Given the description of an element on the screen output the (x, y) to click on. 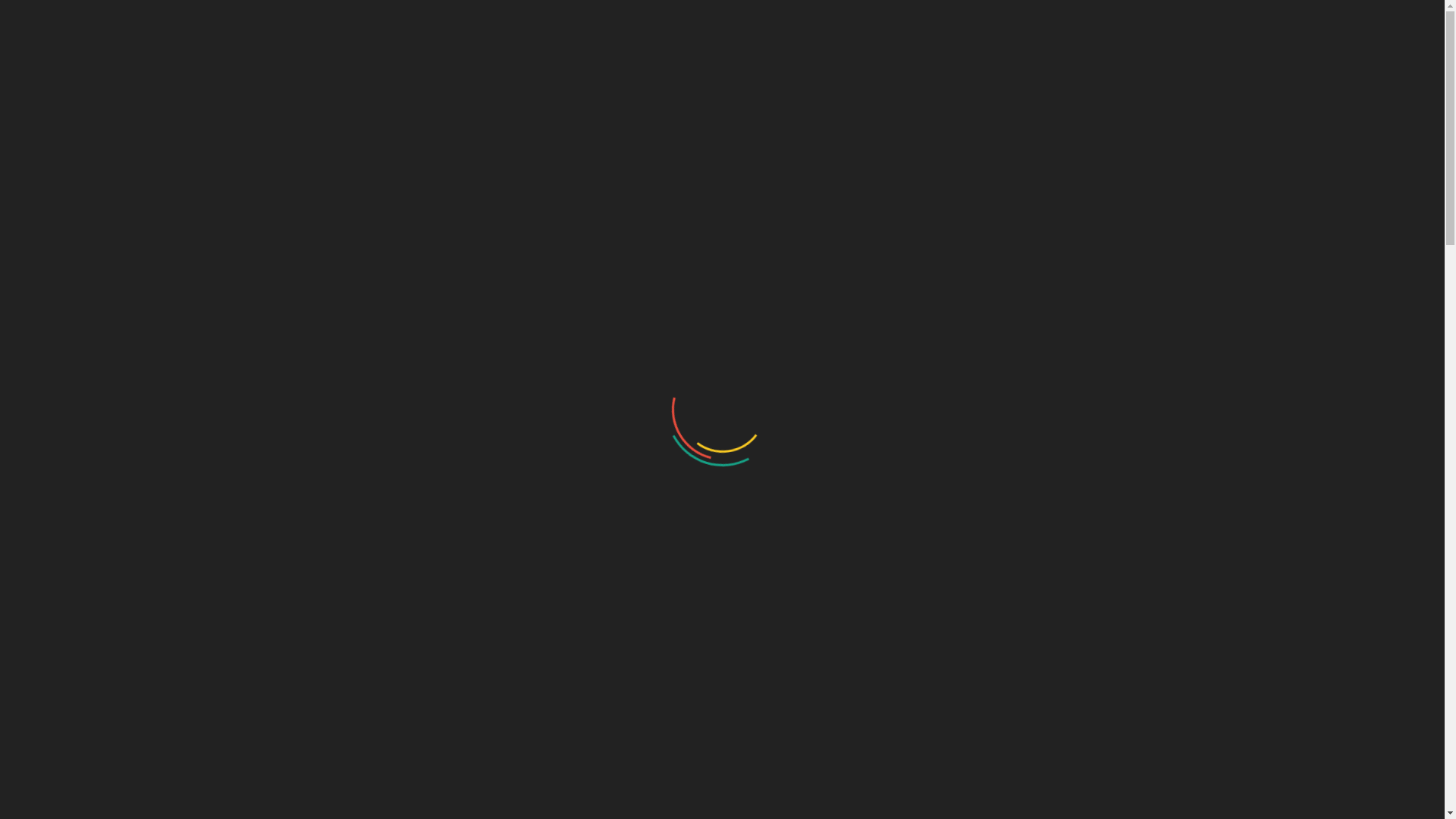
equipe Element type: text (28, 682)
Ensino Element type: text (29, 558)
PROJETOS DE PESQUISA Element type: text (889, 73)
